Given the description of an element on the screen output the (x, y) to click on. 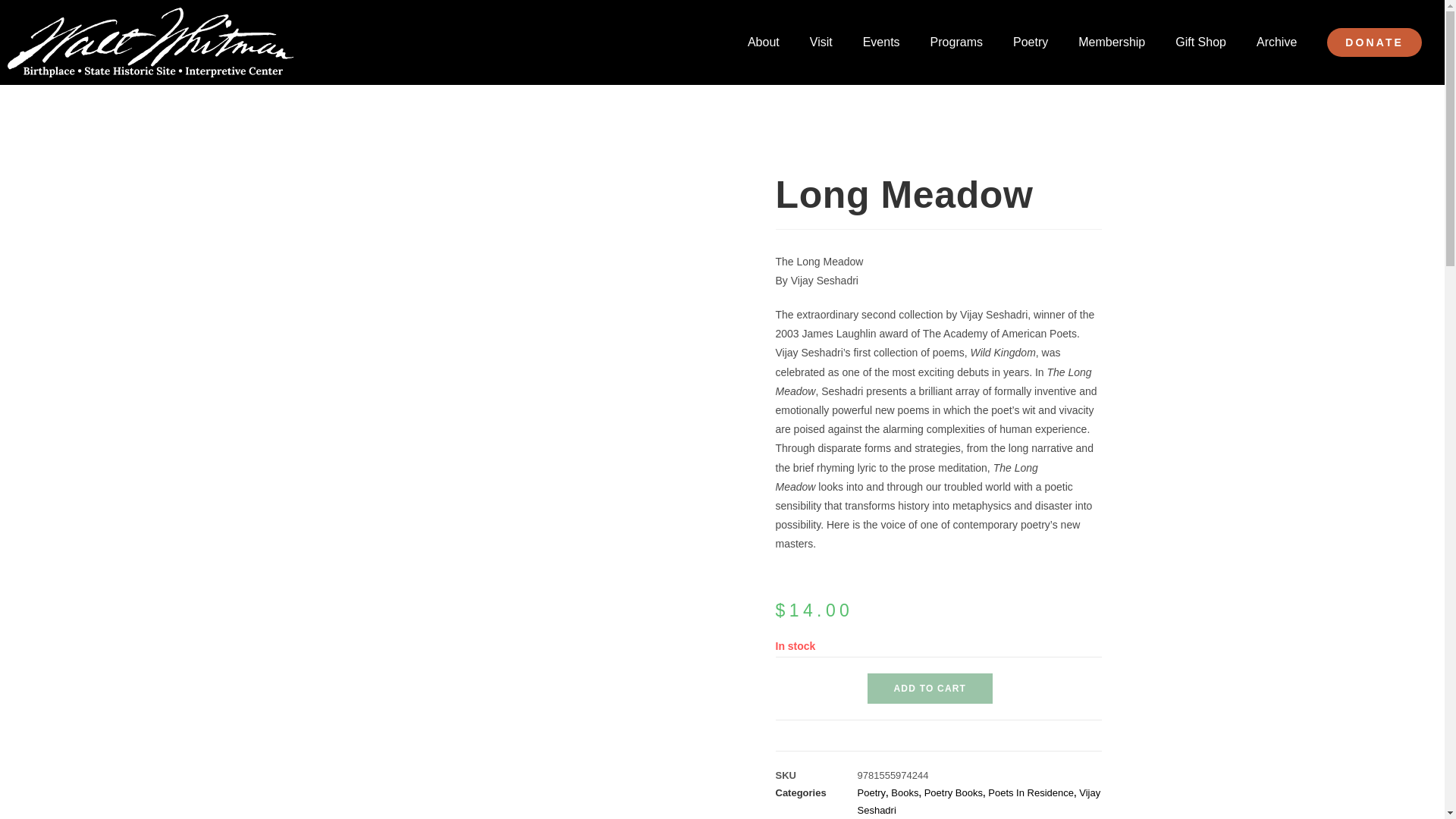
Events (881, 42)
Membership (1111, 42)
Programs (956, 42)
Visit (820, 42)
Poetry (1029, 42)
About (763, 42)
